Given the description of an element on the screen output the (x, y) to click on. 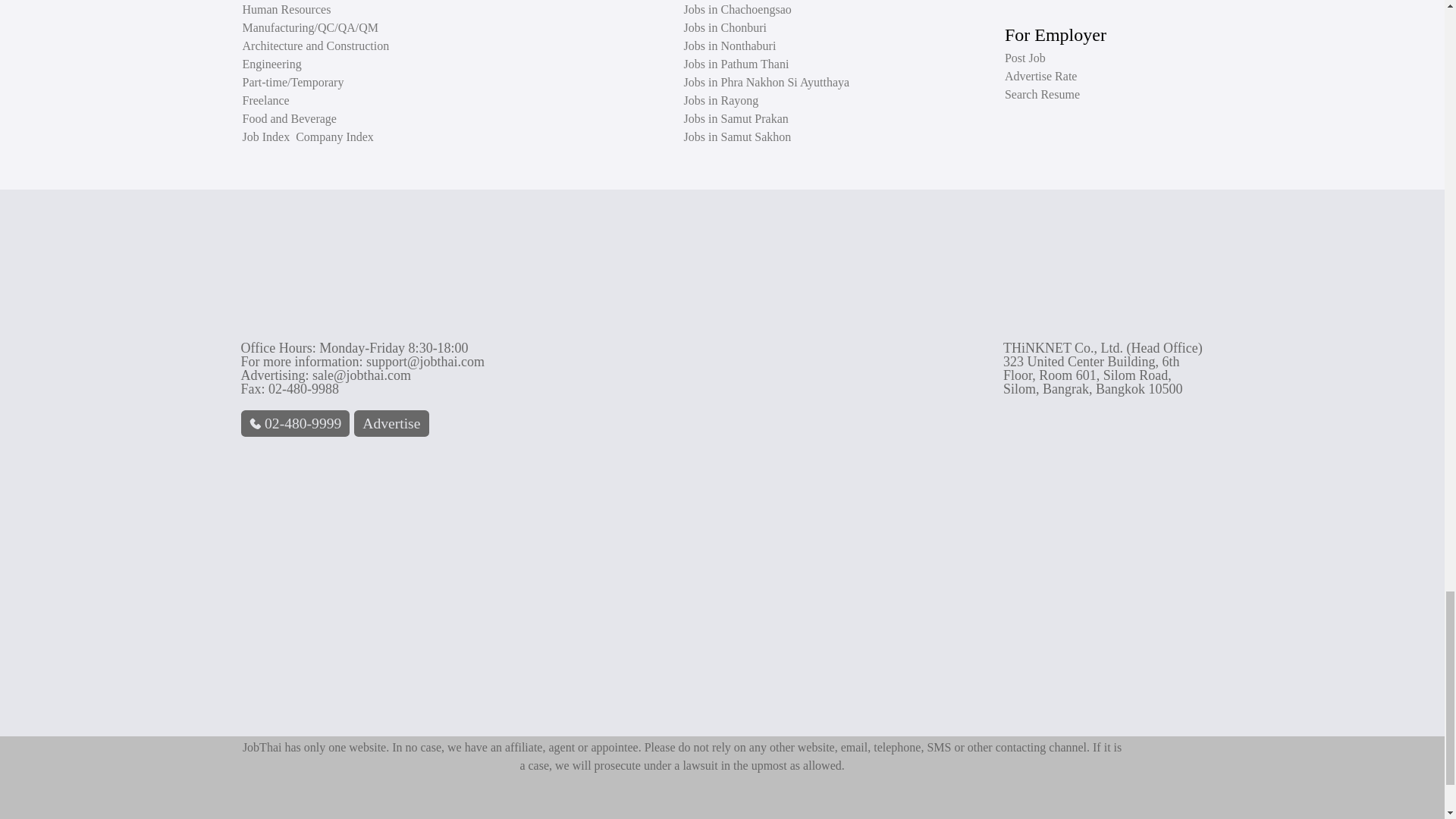
Jobs in Chachoengsao (738, 9)
Jobs in Phra Nakhon Si Ayutthaya (767, 82)
Architecture and Construction (316, 46)
Food and Beverage (289, 119)
Human Resources (287, 9)
Engineering (272, 64)
Company Index (334, 137)
Jobs in Chonburi (725, 28)
Jobs in Pathum Thani (736, 64)
Freelance (266, 101)
Jobs in Nonthaburi (730, 46)
Job Index (268, 137)
